Given the description of an element on the screen output the (x, y) to click on. 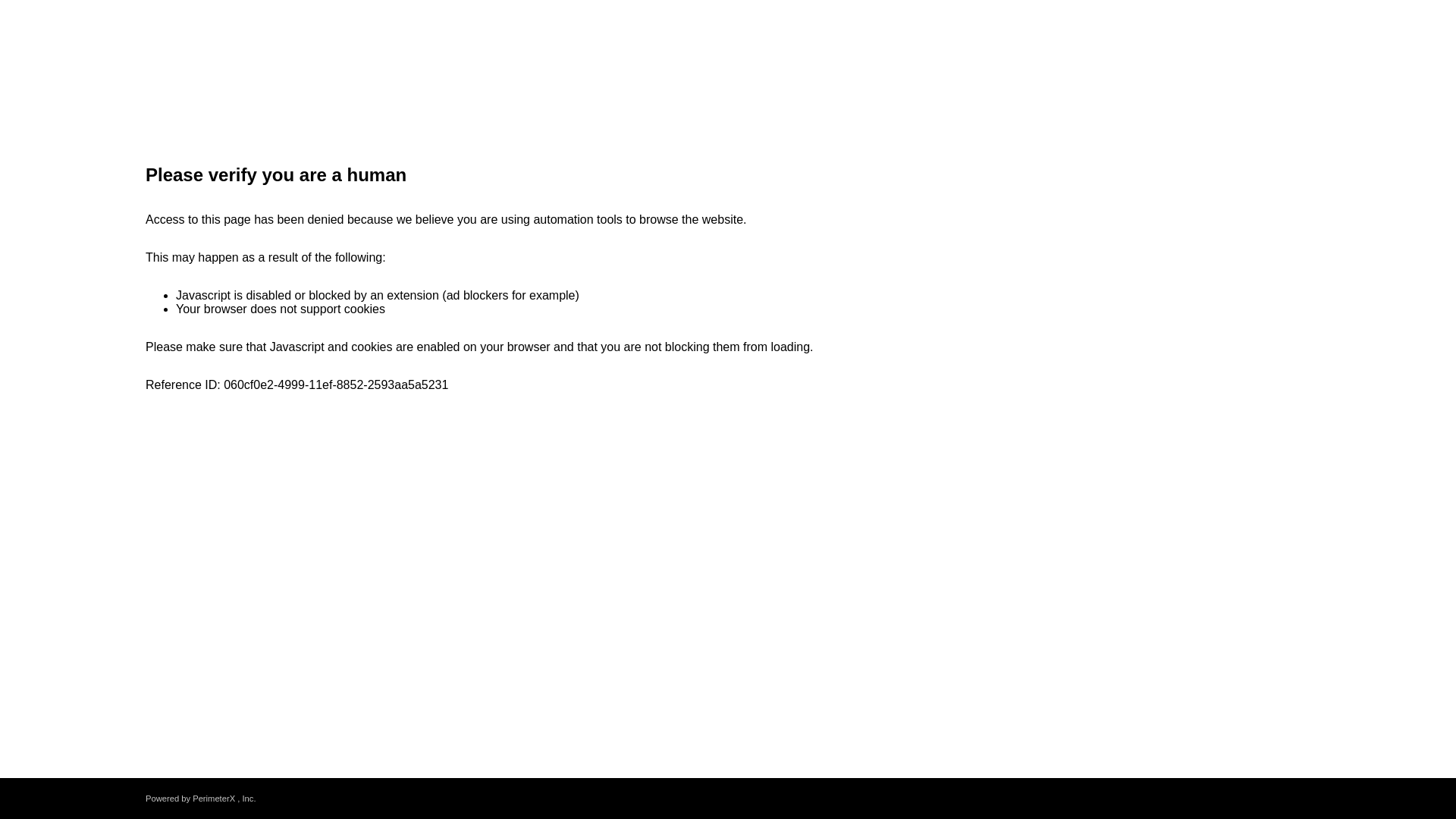
PerimeterX (213, 798)
